Given the description of an element on the screen output the (x, y) to click on. 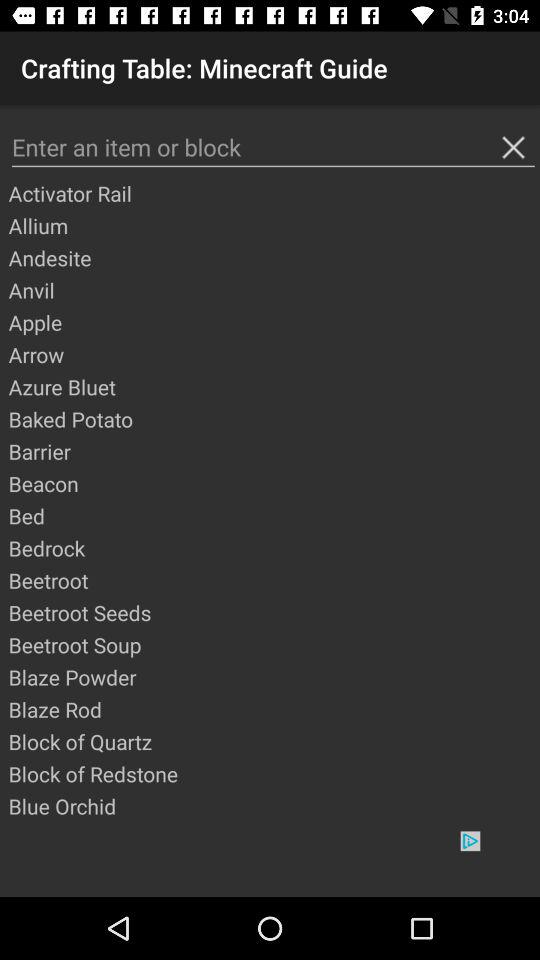
search bar (273, 147)
